Given the description of an element on the screen output the (x, y) to click on. 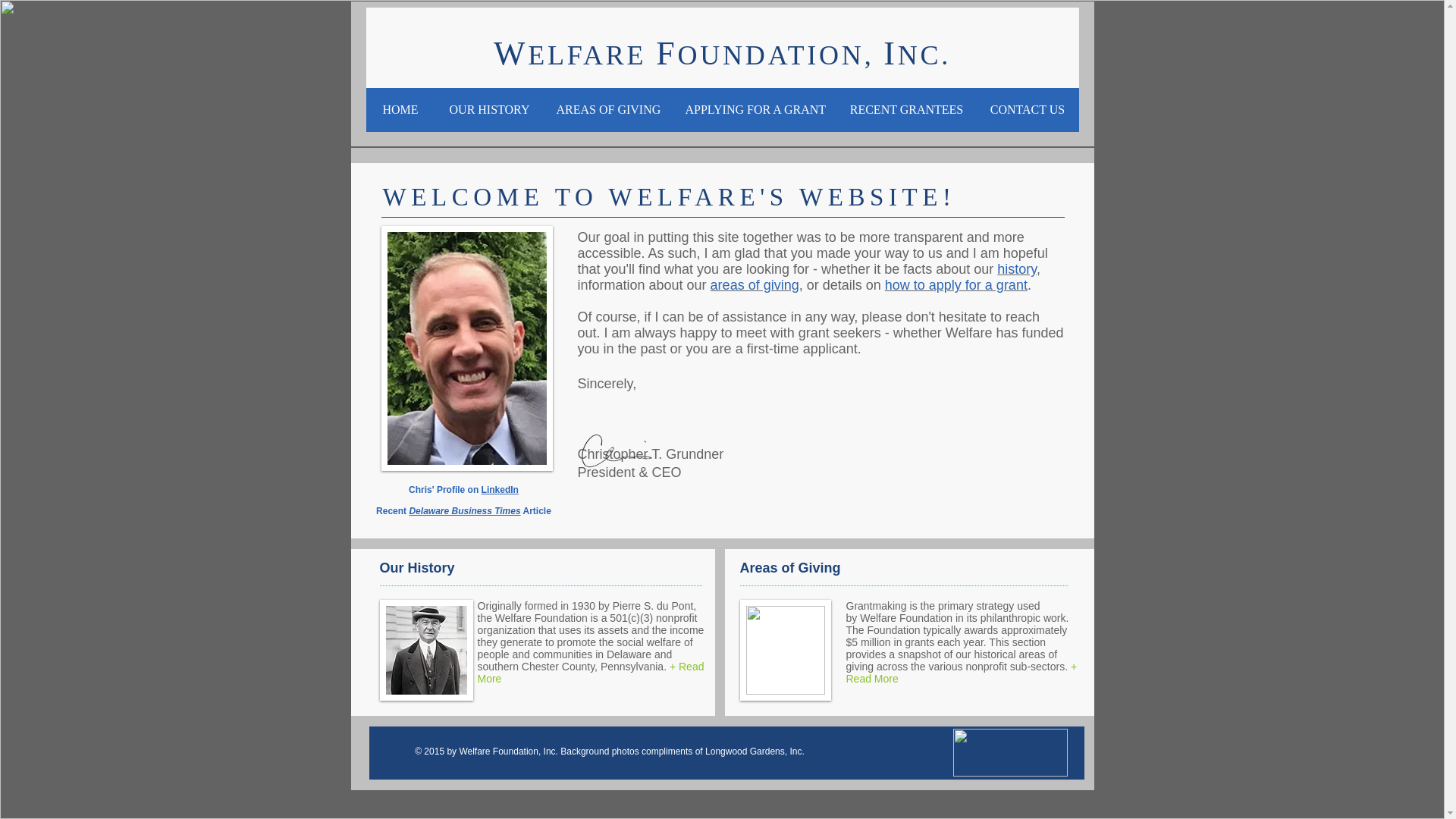
Delaware Business Times (464, 511)
AREAS OF GIVING (607, 109)
history (1016, 268)
Corbis-U224672P-A.jpg (424, 650)
OUR HISTORY (489, 109)
APPLYING FOR A GRANT (753, 109)
LinkedIn (499, 489)
CONTACT US (1026, 109)
how to apply for a grant. (957, 284)
HOME (399, 109)
areas of giving,  (758, 284)
RECENT GRANTEES (906, 109)
Background photos compliments of Longwood Gardens, Inc. (682, 751)
